Given the description of an element on the screen output the (x, y) to click on. 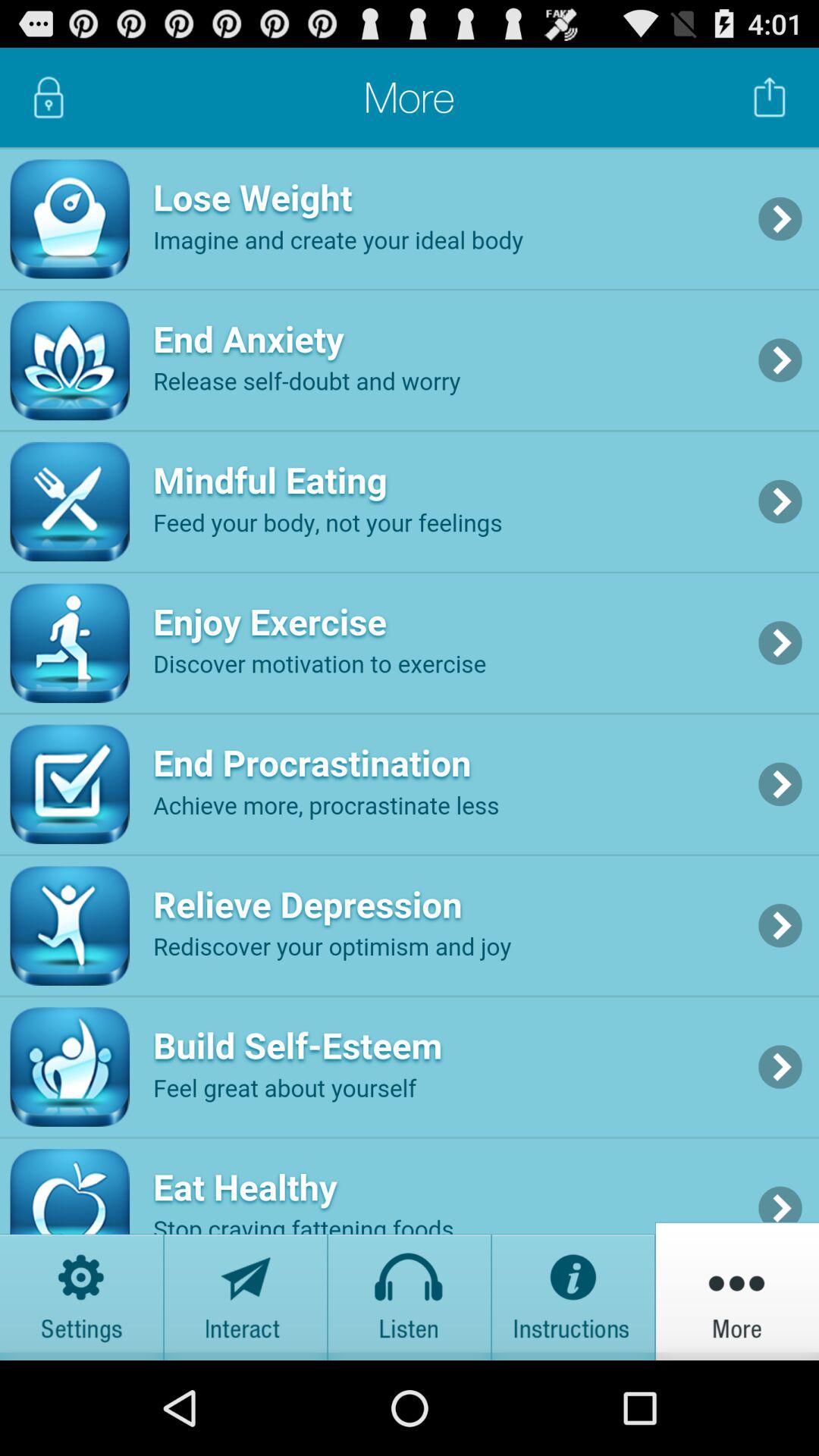
start audio (409, 1290)
